Given the description of an element on the screen output the (x, y) to click on. 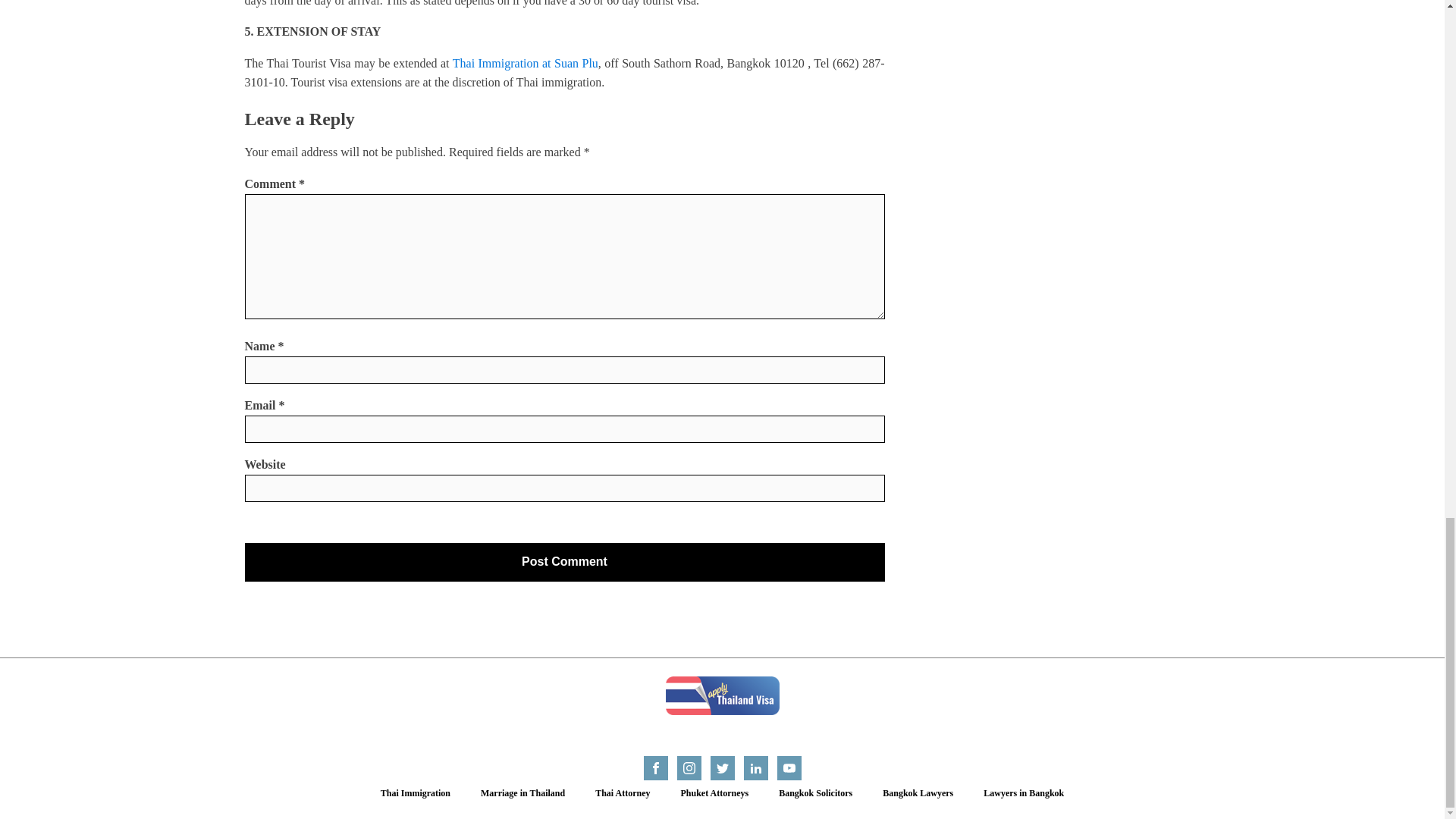
Thai Immigration at Suan Plu (525, 62)
Post Comment (563, 561)
thai immigration bangkok (525, 62)
Post Comment (563, 561)
